Given the description of an element on the screen output the (x, y) to click on. 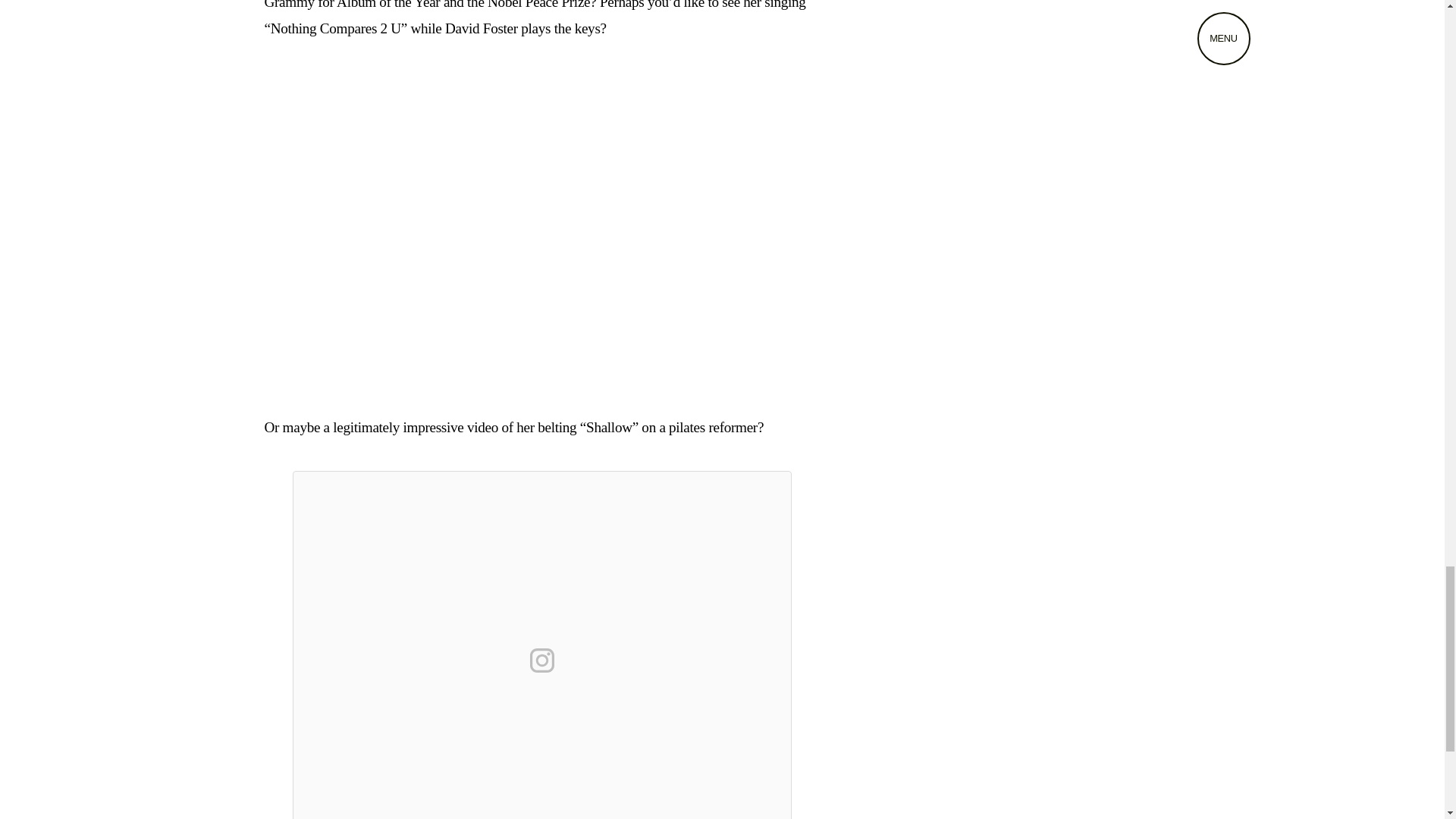
View on Instagram (540, 660)
